Given the description of an element on the screen output the (x, y) to click on. 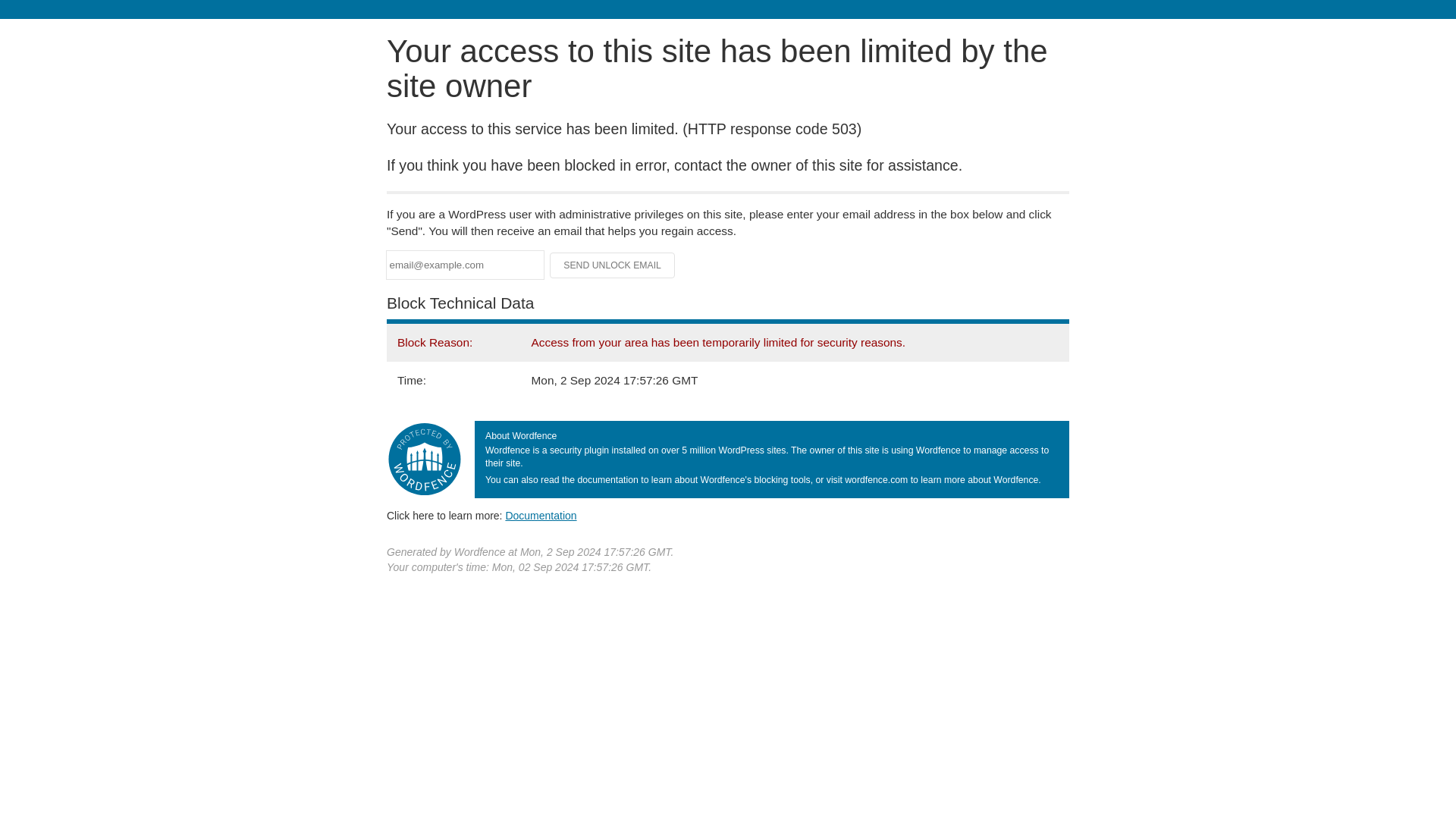
Documentation (540, 515)
Send Unlock Email (612, 265)
Send Unlock Email (612, 265)
